Given the description of an element on the screen output the (x, y) to click on. 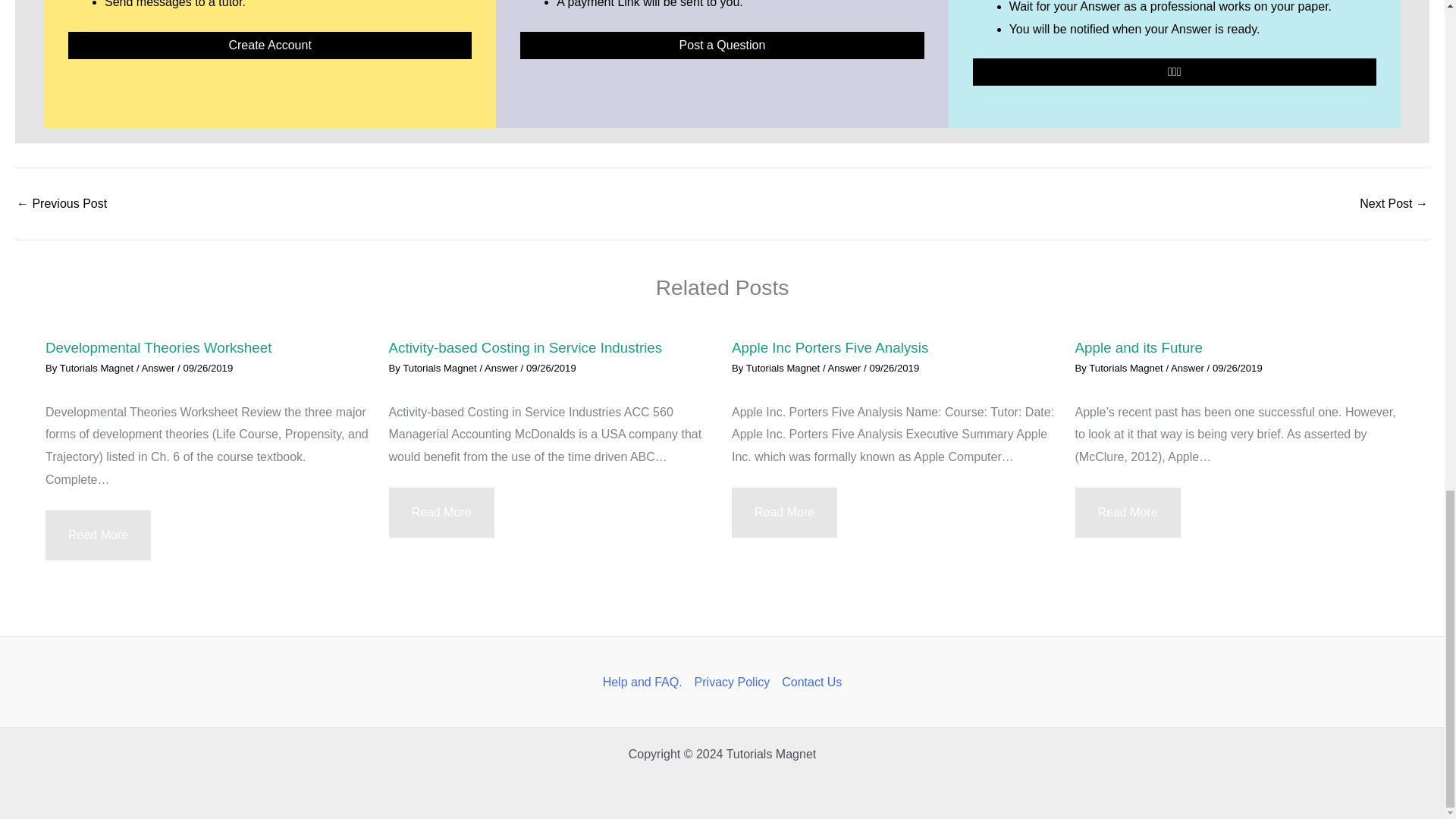
Create Account (269, 44)
View all posts by Tutorials Magnet (1127, 367)
Post a Question (721, 44)
View all posts by Tutorials Magnet (441, 367)
View all posts by Tutorials Magnet (97, 367)
View all posts by Tutorials Magnet (783, 367)
Target Audience of case study (1393, 203)
